Given the description of an element on the screen output the (x, y) to click on. 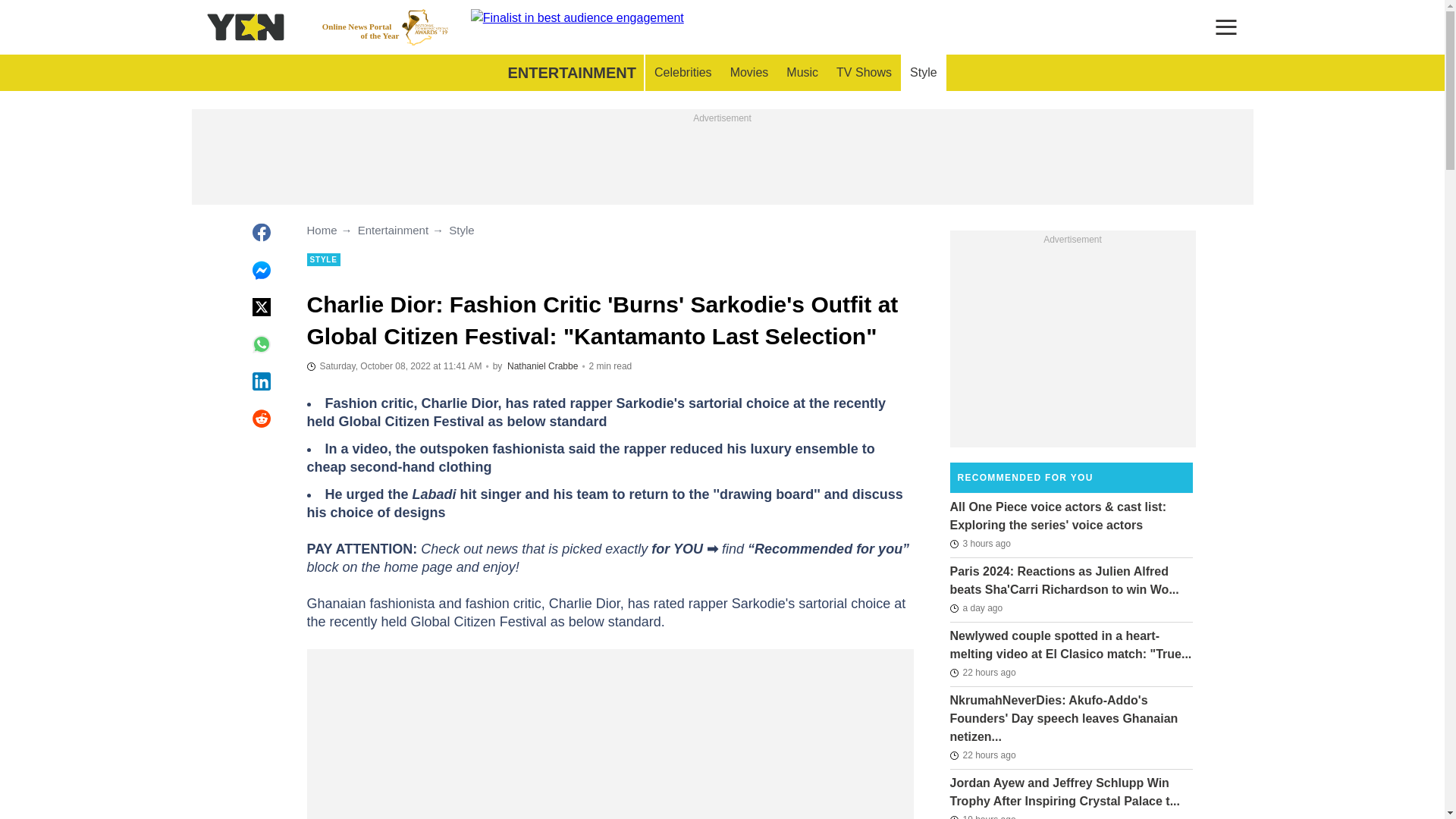
Celebrities (682, 72)
Music (802, 72)
ENTERTAINMENT (571, 72)
2022-10-08T11:41:34Z (393, 366)
Movies (748, 72)
TV Shows (864, 72)
Style (384, 27)
Author page (923, 72)
